Given the description of an element on the screen output the (x, y) to click on. 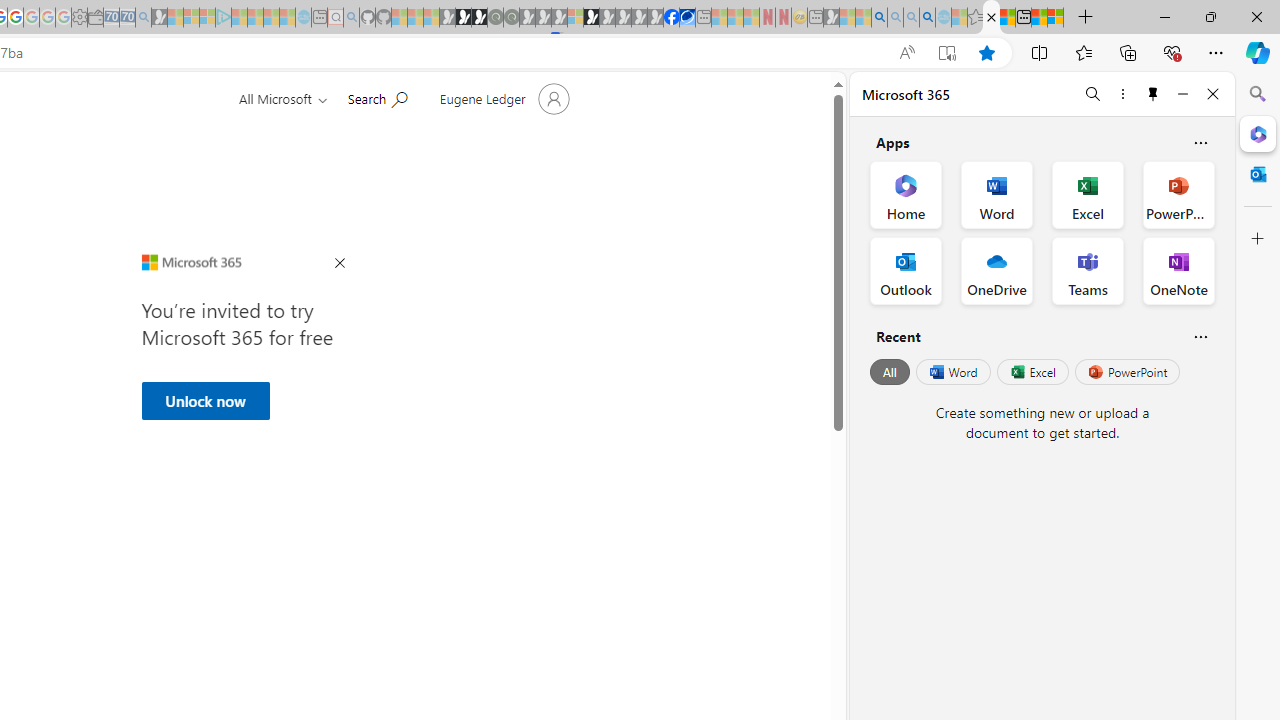
PowerPoint (1127, 372)
Search for help (377, 97)
Outlook Office App (906, 270)
Unlock now (205, 399)
